Given the description of an element on the screen output the (x, y) to click on. 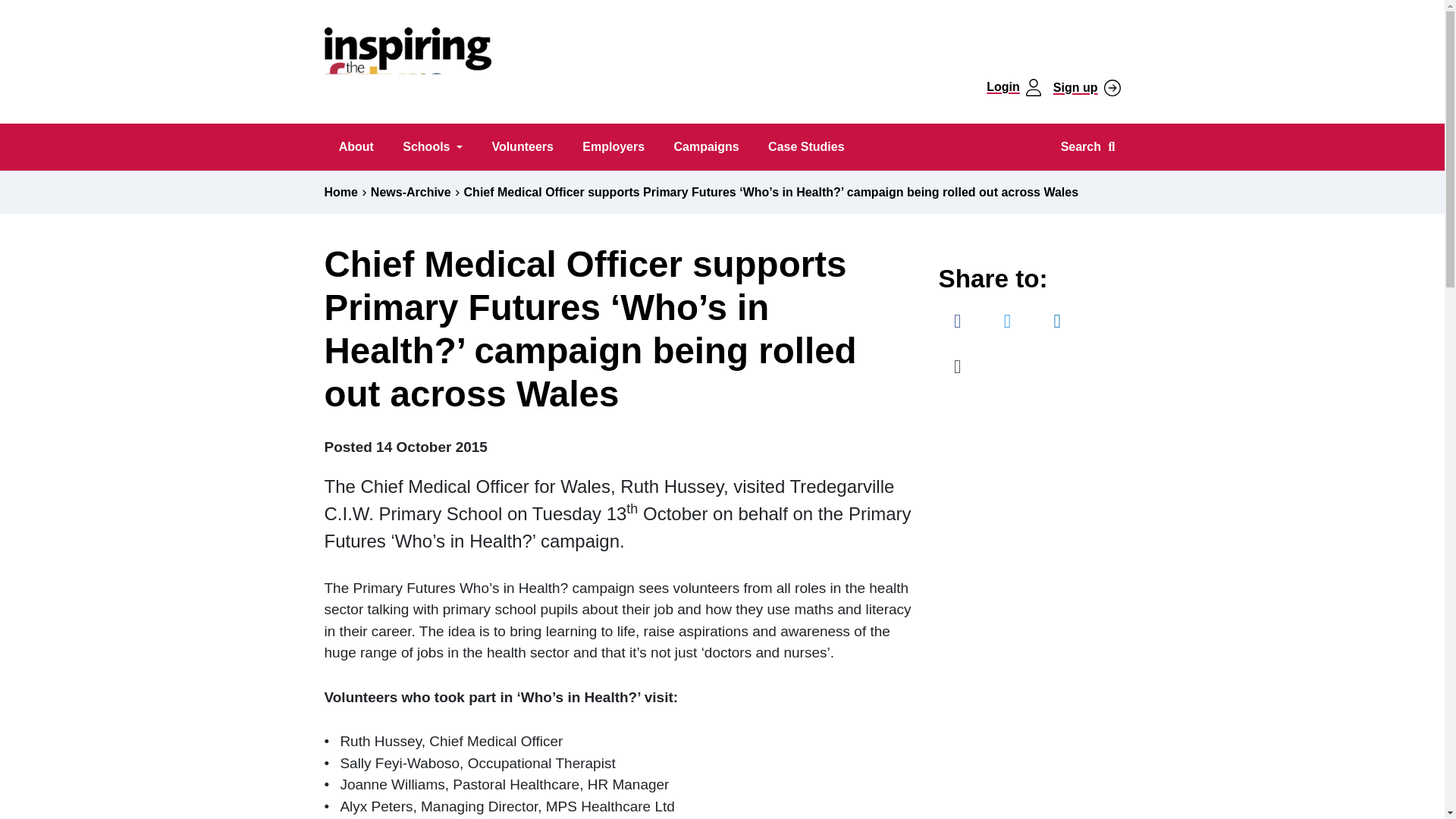
Tweet (1007, 322)
Employers (613, 146)
Case Studies (806, 146)
Campaigns (706, 146)
Schools (432, 146)
Login (1014, 87)
Tweet (1007, 322)
Volunteers (522, 146)
Share on LinkedIn (1057, 322)
Go to the News-Archive category archives. (411, 192)
